Given the description of an element on the screen output the (x, y) to click on. 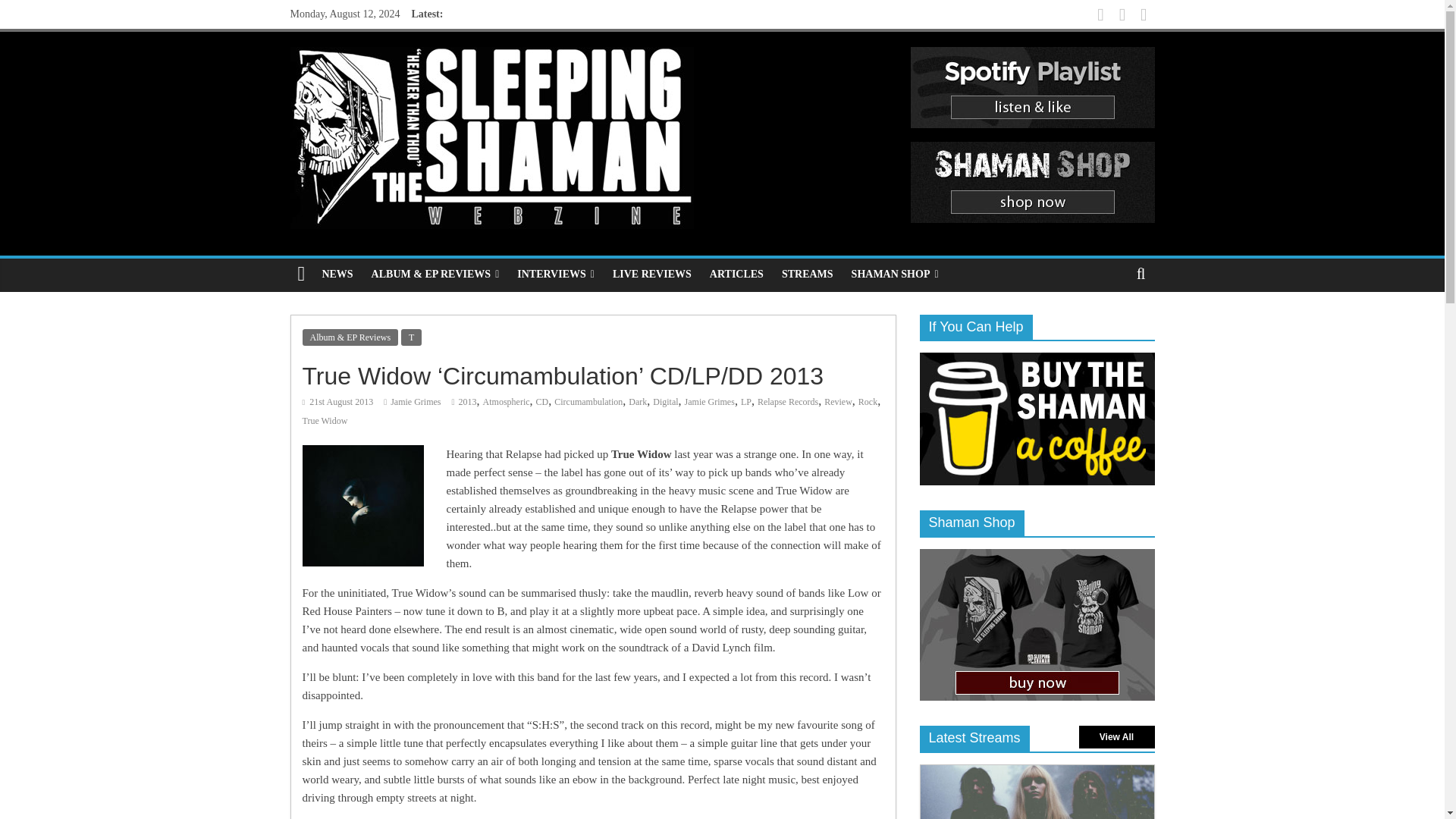
Jamie Grimes (415, 401)
10:52 am (336, 401)
NEWS (337, 274)
